Given the description of an element on the screen output the (x, y) to click on. 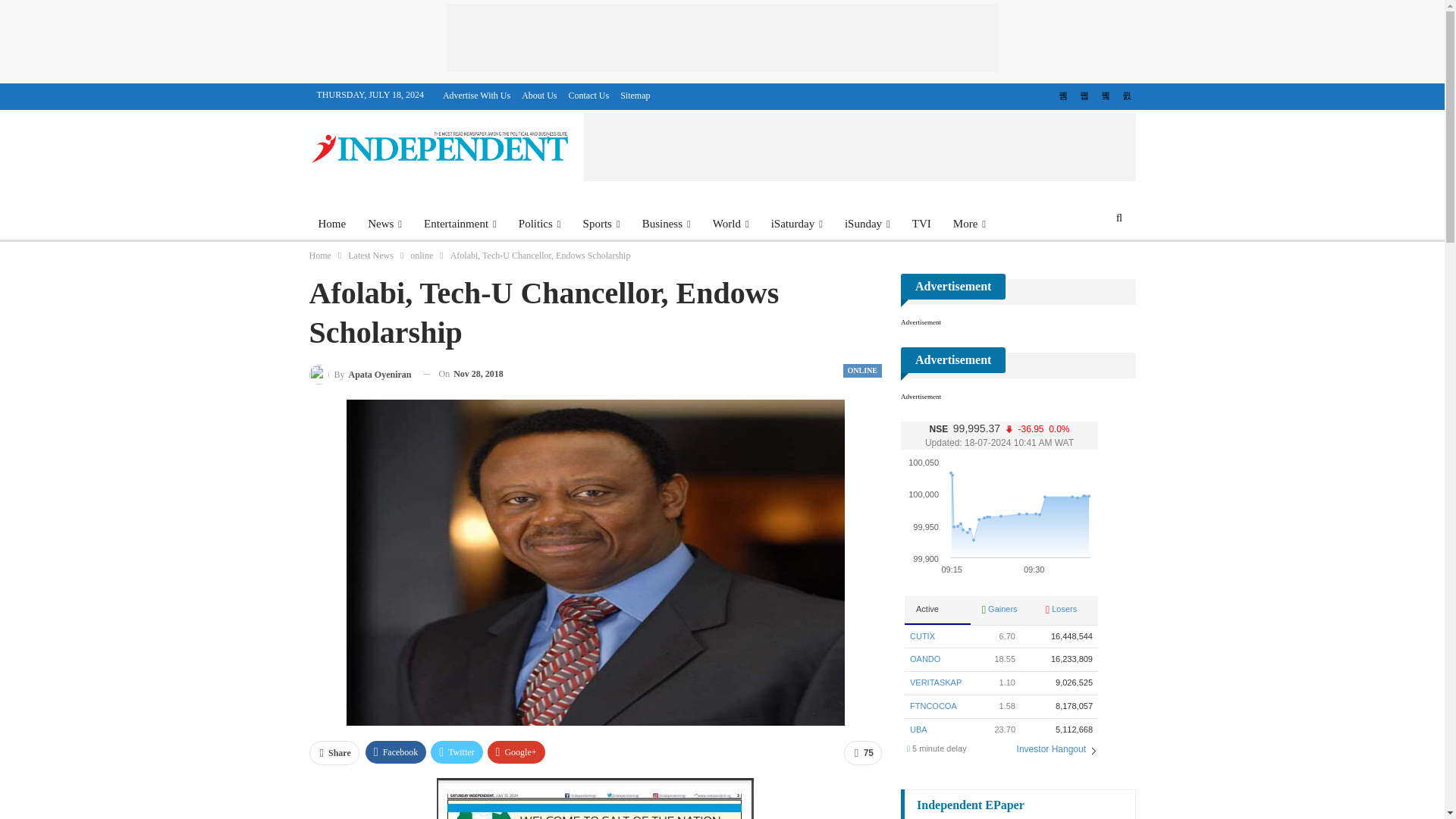
Sitemap (634, 95)
Contact Us (589, 95)
Advertise With Us (476, 95)
Entertainment (459, 223)
Advertisement (859, 146)
Home (331, 223)
Advertisement (721, 38)
About Us (538, 95)
News (384, 223)
Politics (539, 223)
